Given the description of an element on the screen output the (x, y) to click on. 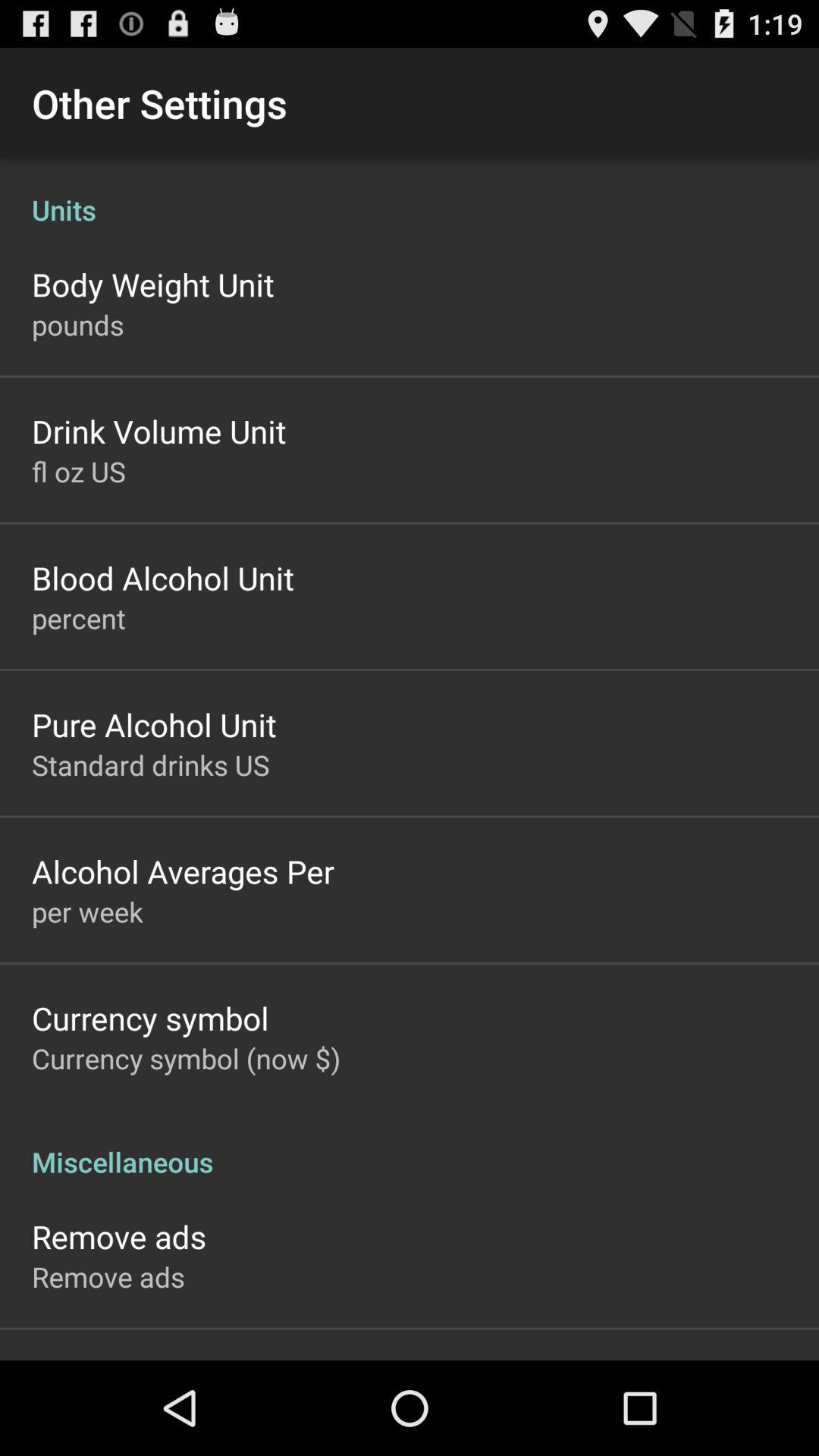
press icon below standard drinks us icon (182, 870)
